Given the description of an element on the screen output the (x, y) to click on. 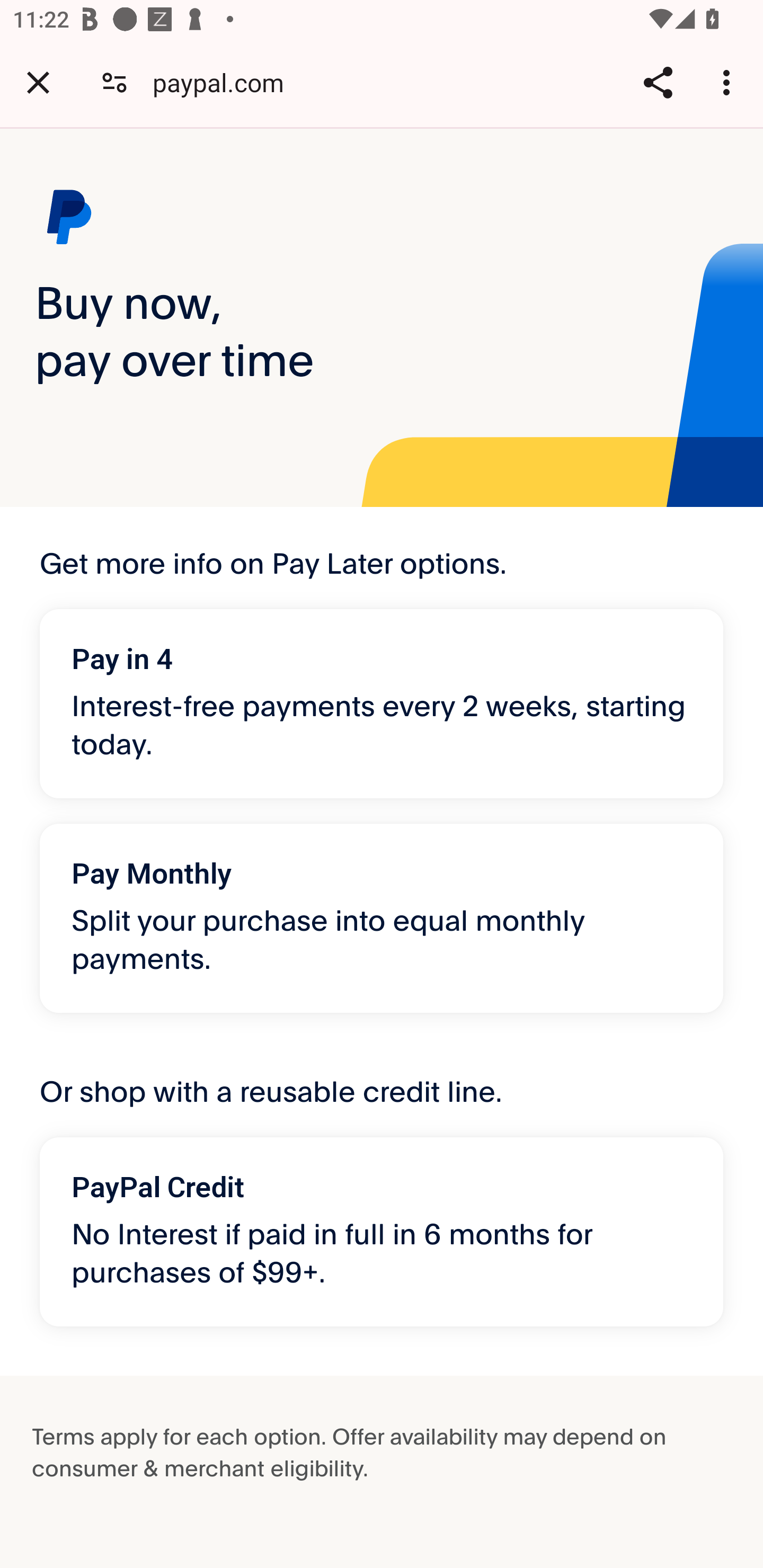
Close tab (38, 82)
Share (657, 82)
Customize and control Google Chrome (729, 82)
Connection is secure (114, 81)
paypal.com (224, 81)
